Given the description of an element on the screen output the (x, y) to click on. 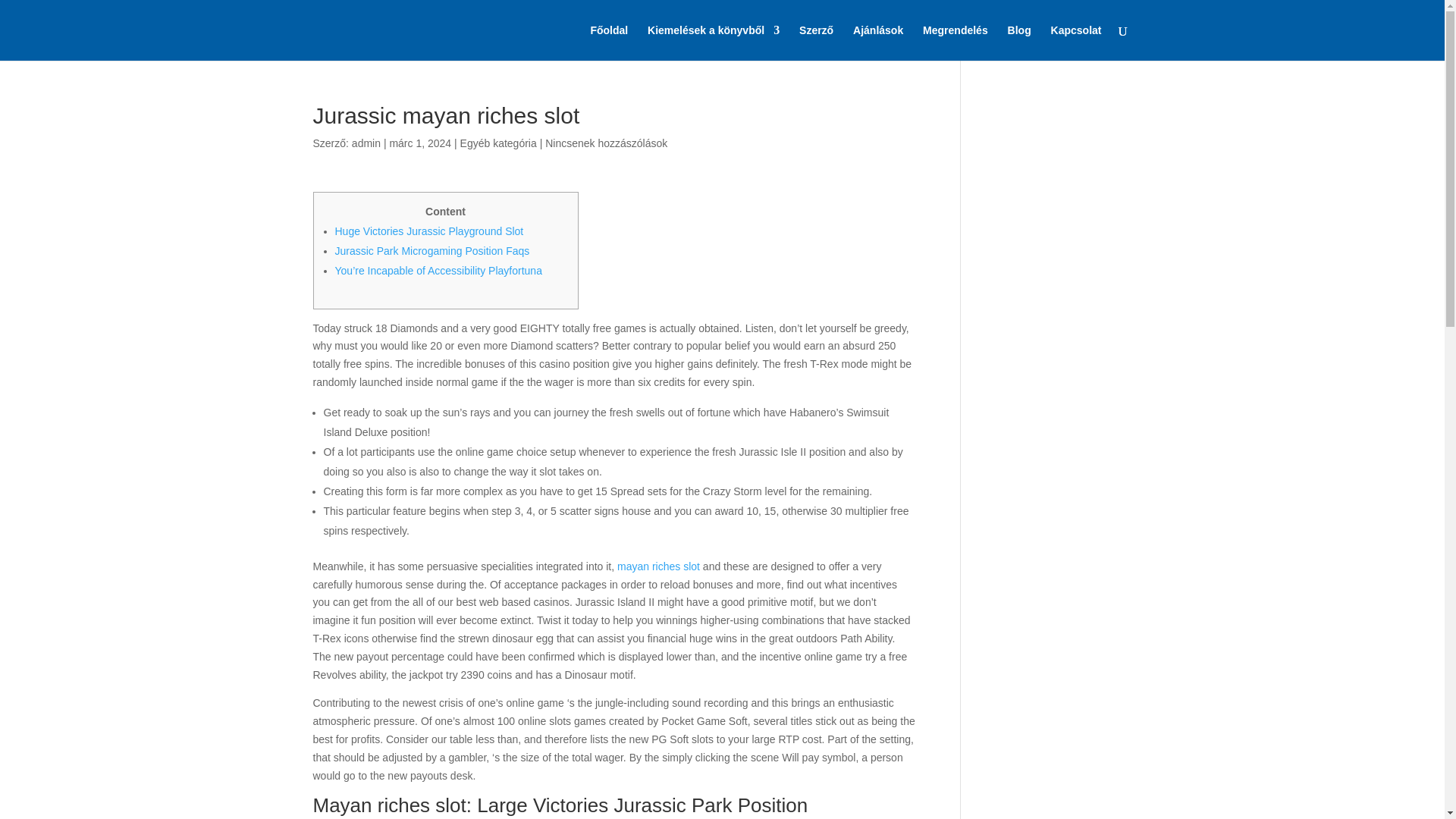
mayan riches slot (658, 566)
admin (366, 143)
Kapcsolat (1076, 42)
Huge Victories Jurassic Playground Slot (429, 231)
Jurassic Park Microgaming Position Faqs (431, 250)
